Given the description of an element on the screen output the (x, y) to click on. 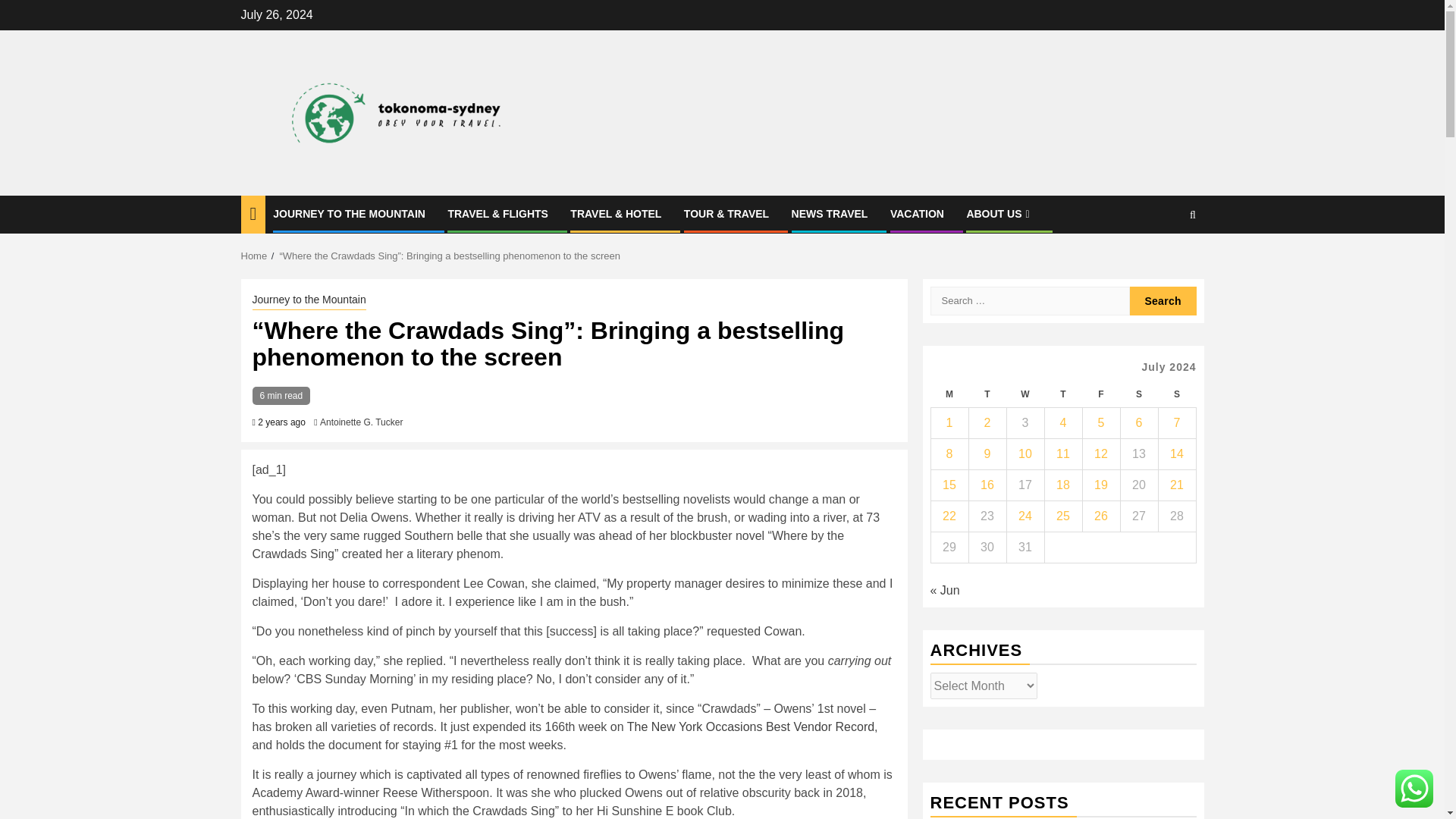
Sunday (1176, 394)
Saturday (1138, 394)
Search (1162, 300)
Search (1192, 214)
Tuesday (987, 394)
Journey to the Mountain (308, 300)
Thursday (1062, 394)
Search (1162, 300)
VACATION (916, 214)
Friday (1100, 394)
Search (1163, 261)
Home (254, 255)
The New York Occasions Best Vendor Record (751, 726)
Antoinette G. Tucker (361, 421)
ABOUT US (999, 214)
